Given the description of an element on the screen output the (x, y) to click on. 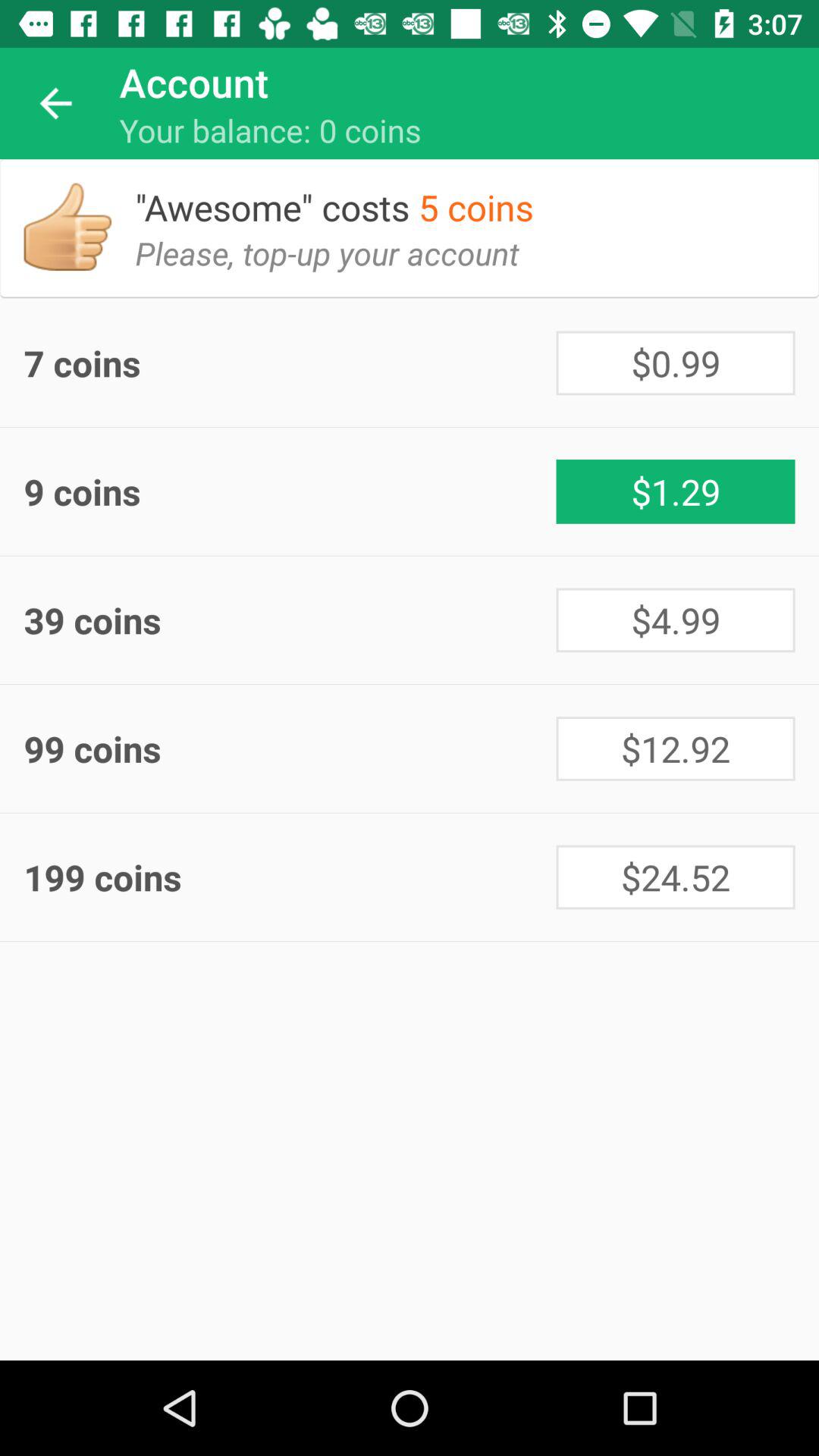
turn off icon to the left of account icon (55, 103)
